Given the description of an element on the screen output the (x, y) to click on. 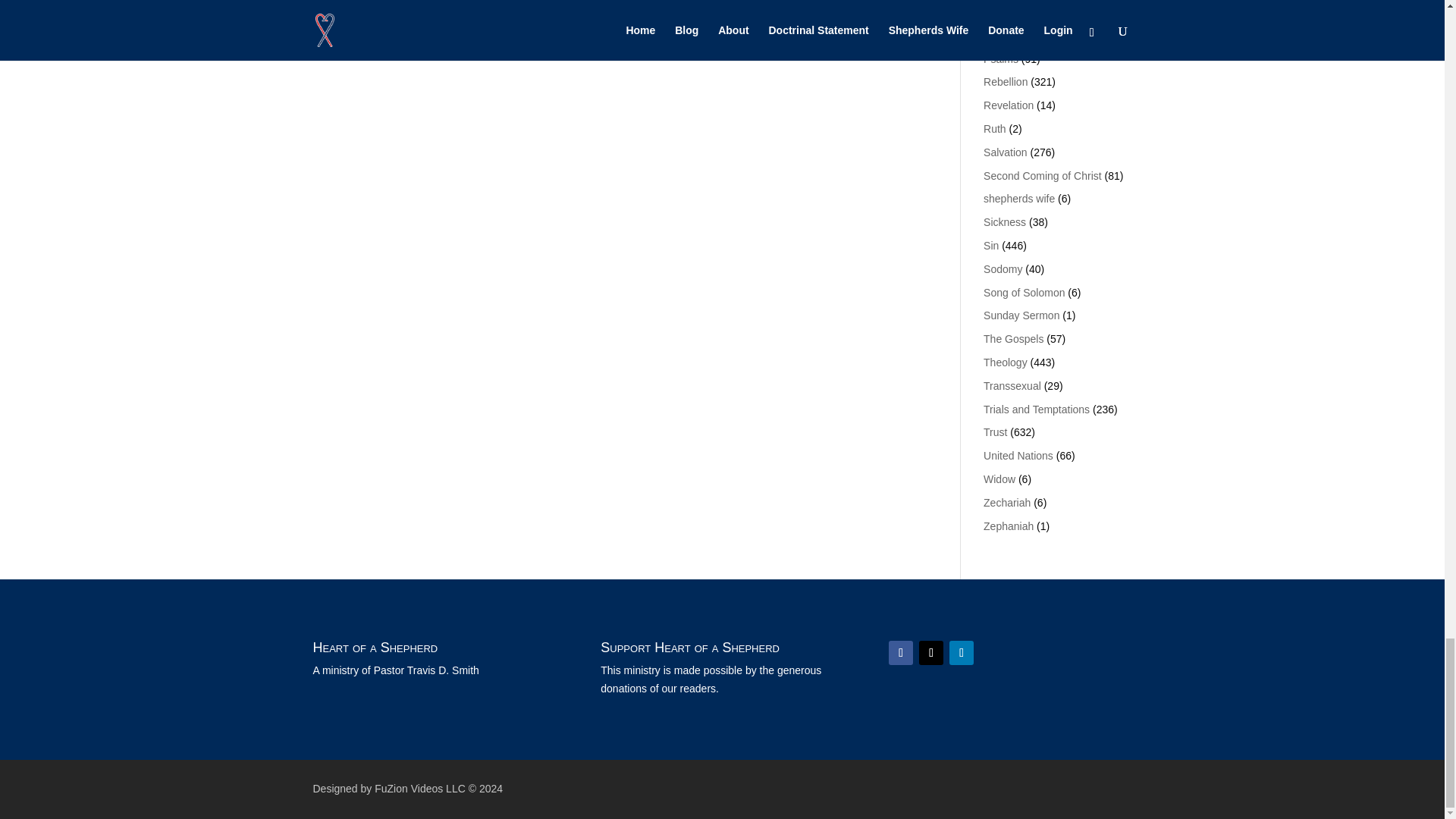
Follow on X (930, 652)
Follow on Facebook (900, 652)
Follow on LinkedIn (961, 652)
